Given the description of an element on the screen output the (x, y) to click on. 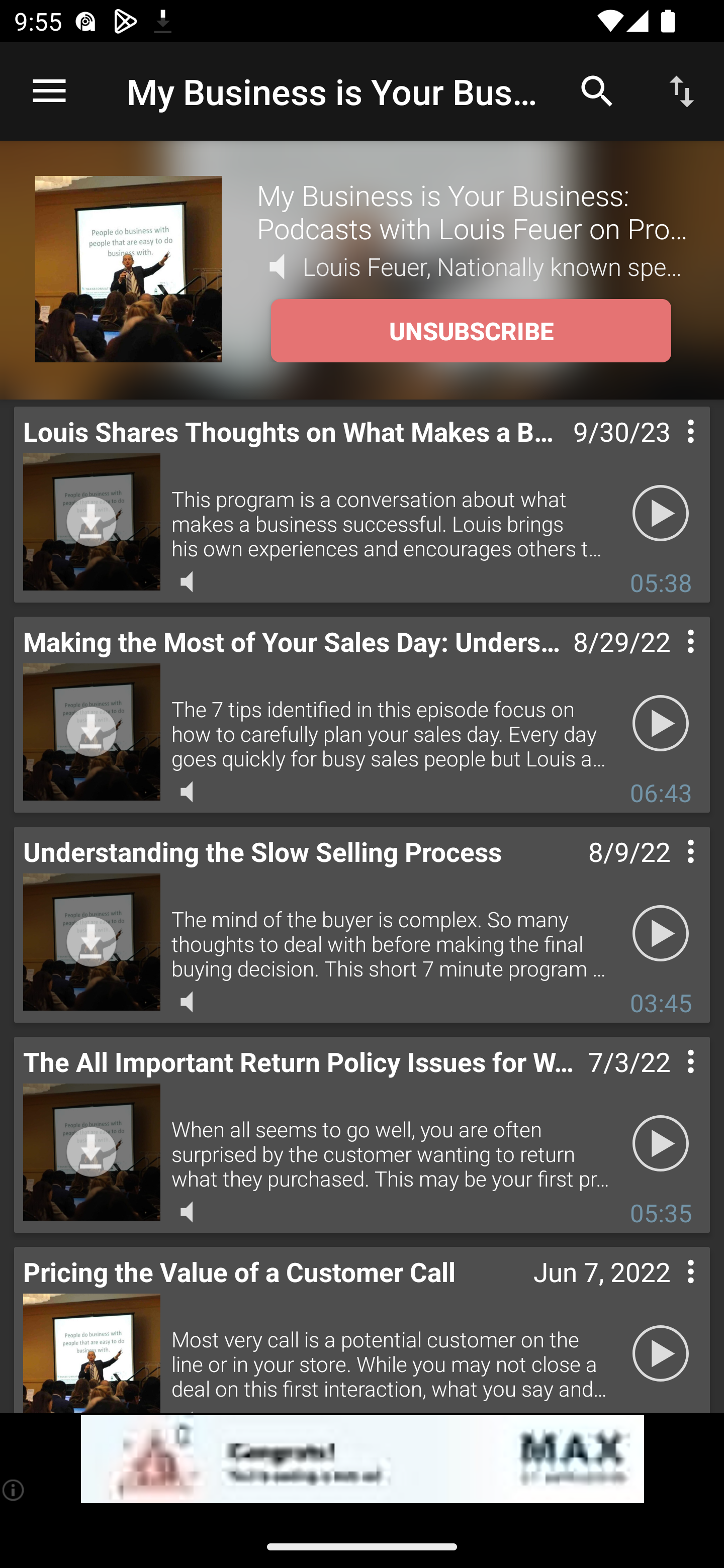
Open navigation sidebar (49, 91)
Search (597, 90)
Sort (681, 90)
UNSUBSCRIBE (470, 330)
Contextual menu (668, 451)
Play (660, 513)
Contextual menu (668, 661)
Play (660, 723)
Contextual menu (668, 870)
Play (660, 933)
Contextual menu (668, 1080)
Play (660, 1143)
Contextual menu (668, 1290)
Play (660, 1353)
app-monetization (362, 1459)
(i) (14, 1489)
